Given the description of an element on the screen output the (x, y) to click on. 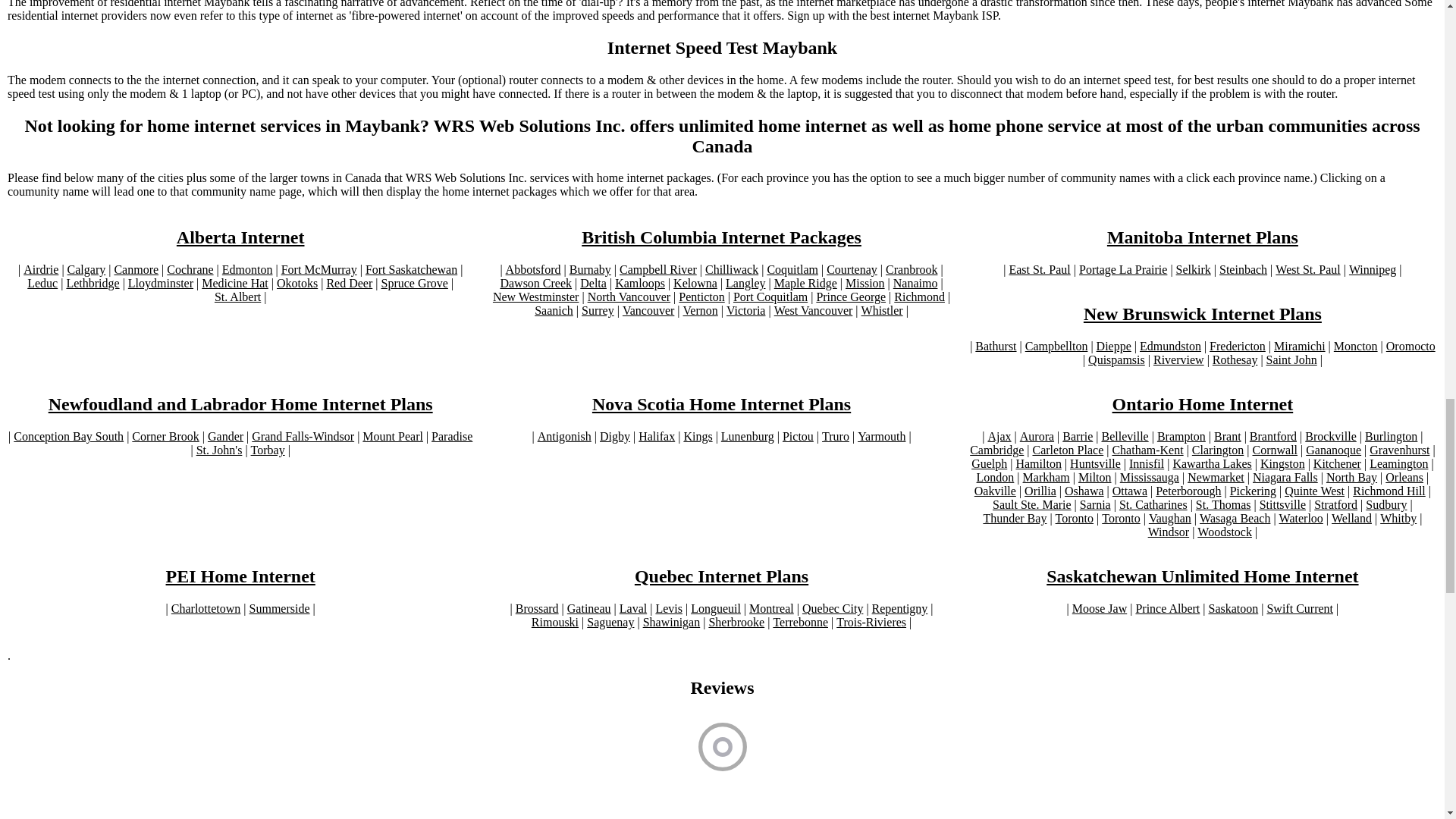
Fort Saskatchewan (411, 269)
Alberta Internet (240, 237)
Calgary (86, 269)
Fort McMurray (318, 269)
Cochrane (189, 269)
Leduc (42, 283)
Canmore (135, 269)
Airdrie (40, 269)
Edmonton (247, 269)
Medicine Hat (234, 283)
